Given the description of an element on the screen output the (x, y) to click on. 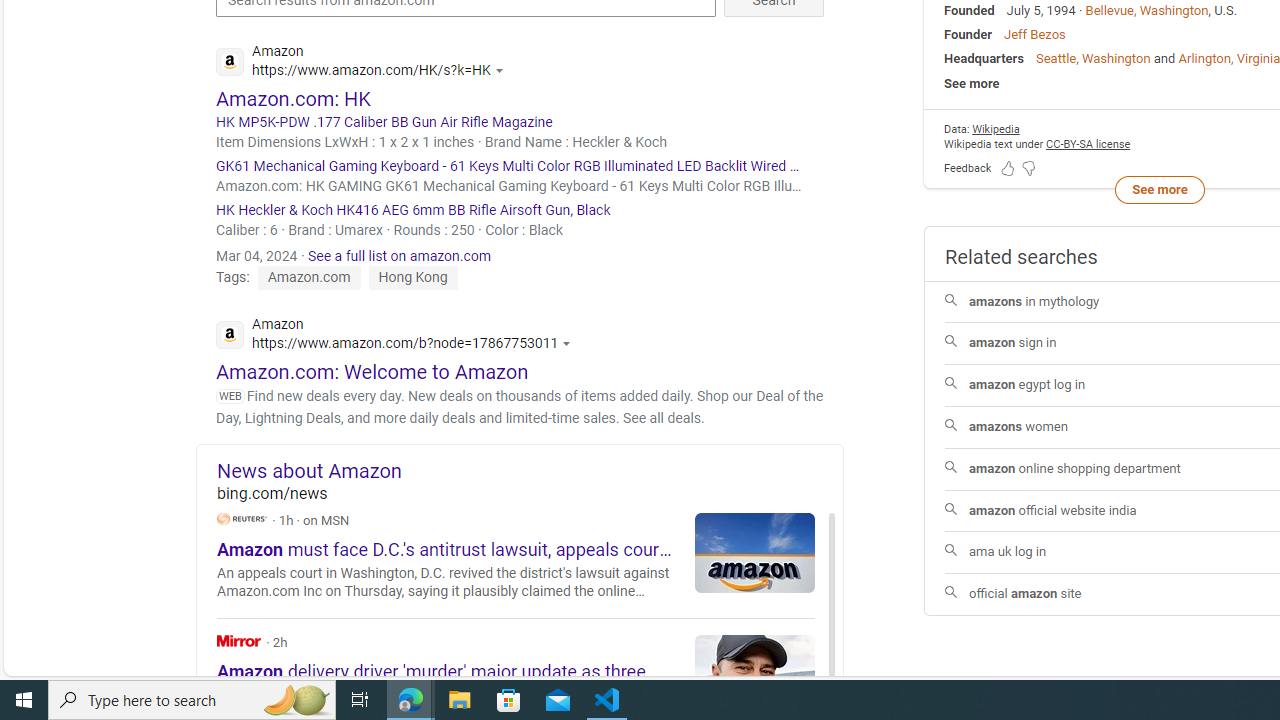
Feedback Like (1007, 167)
Amazon (399, 336)
Reuters on MSN.com (242, 517)
Amazon.com: Welcome to Amazon (372, 371)
HK MP5K-PDW .177 Caliber BB Gun Air Rifle Magazine (520, 122)
HK Heckler & Koch HK416 AEG 6mm BB Rifle Airsoft Gun, Black (520, 210)
Founded (969, 10)
Tags: Amazon.com Hong Kong (337, 277)
Jeff Bezos (1034, 34)
The Mirror (239, 640)
Bellevue, Washington (1147, 10)
Feedback Dislike (1028, 167)
